Given the description of an element on the screen output the (x, y) to click on. 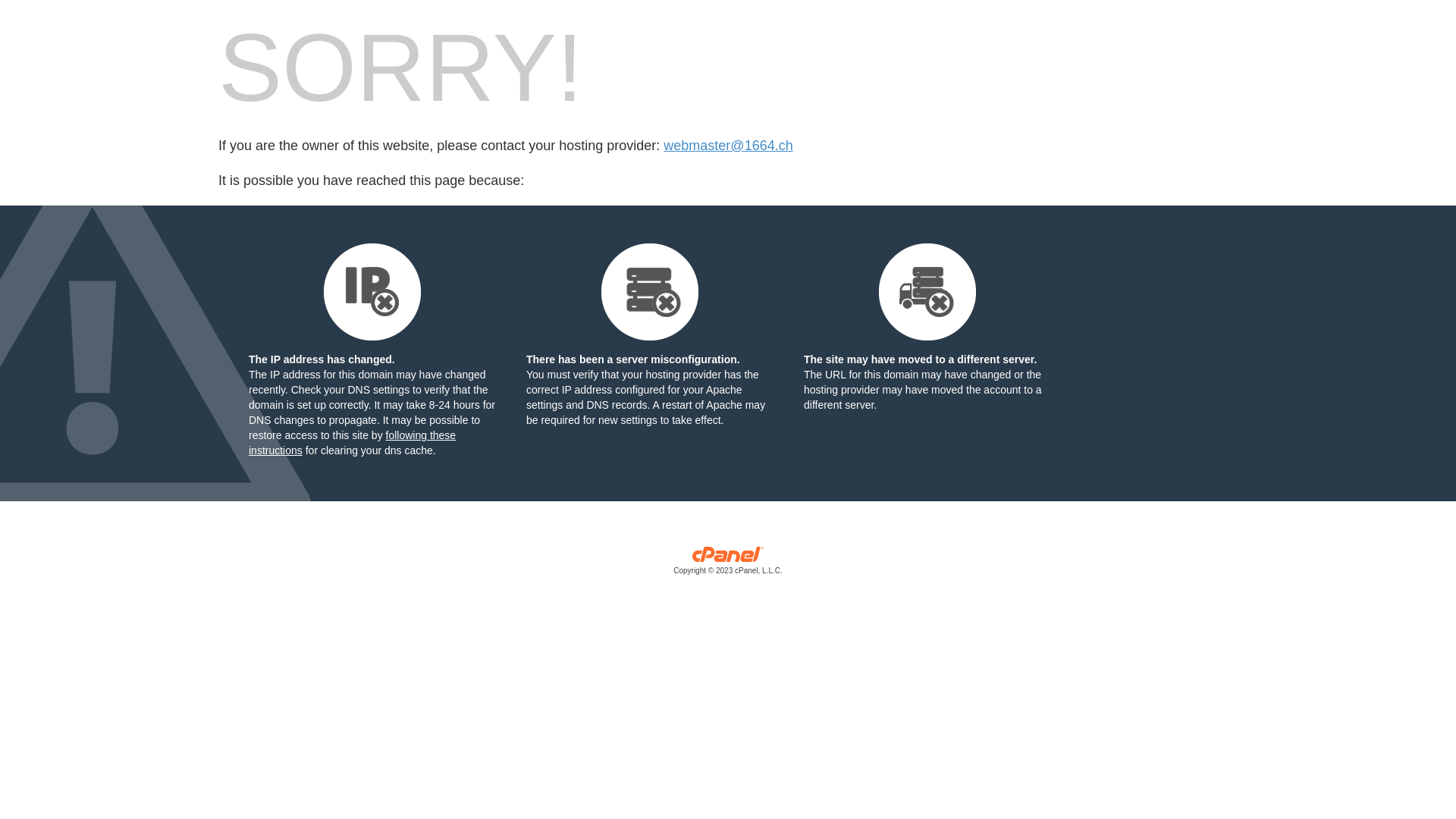
webmaster@1664.ch Element type: text (727, 145)
following these instructions Element type: text (351, 442)
